Given the description of an element on the screen output the (x, y) to click on. 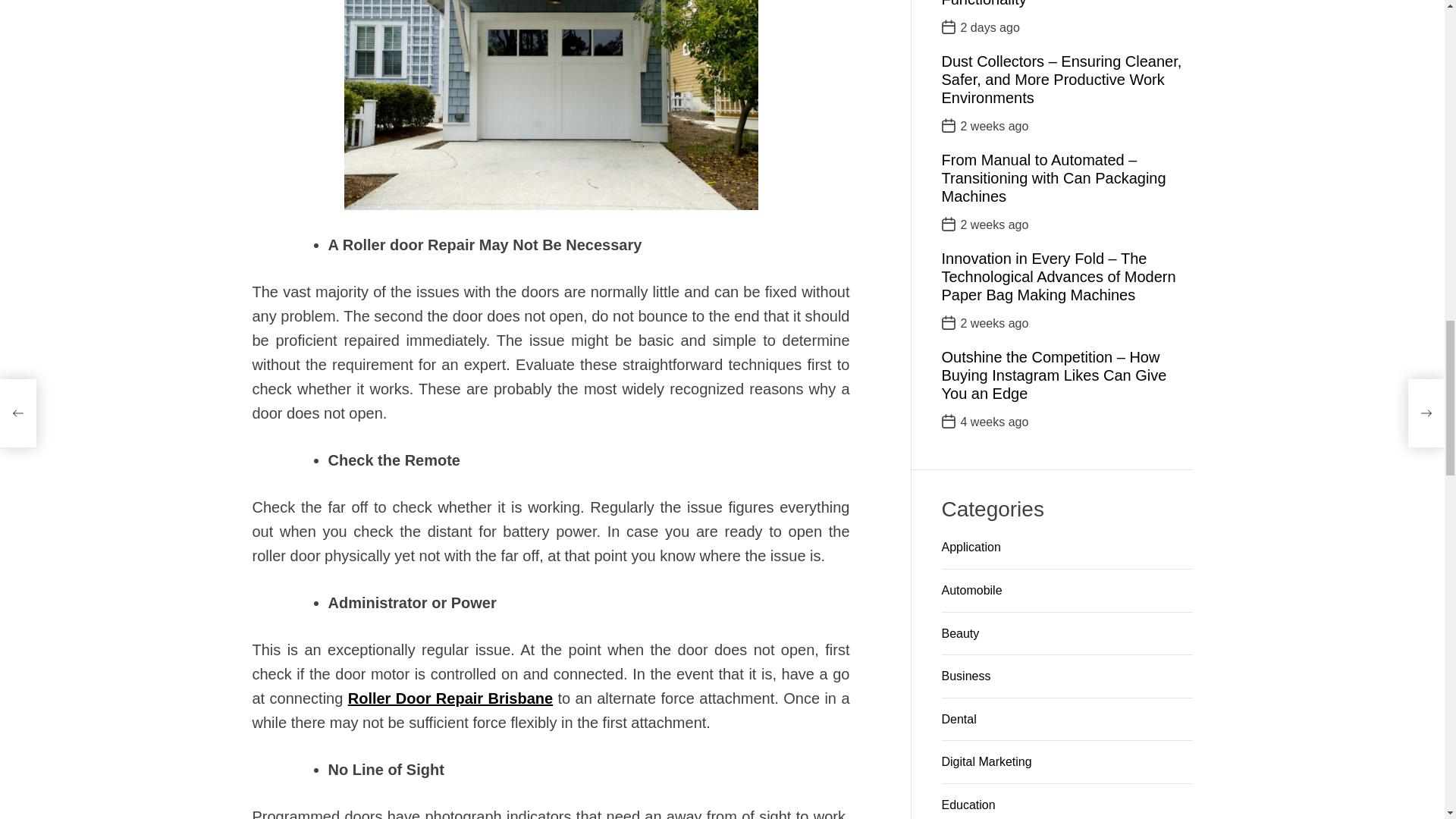
Elsa Williams (601, 577)
Elsa Williams (400, 423)
Elsa Williams (601, 577)
